Given the description of an element on the screen output the (x, y) to click on. 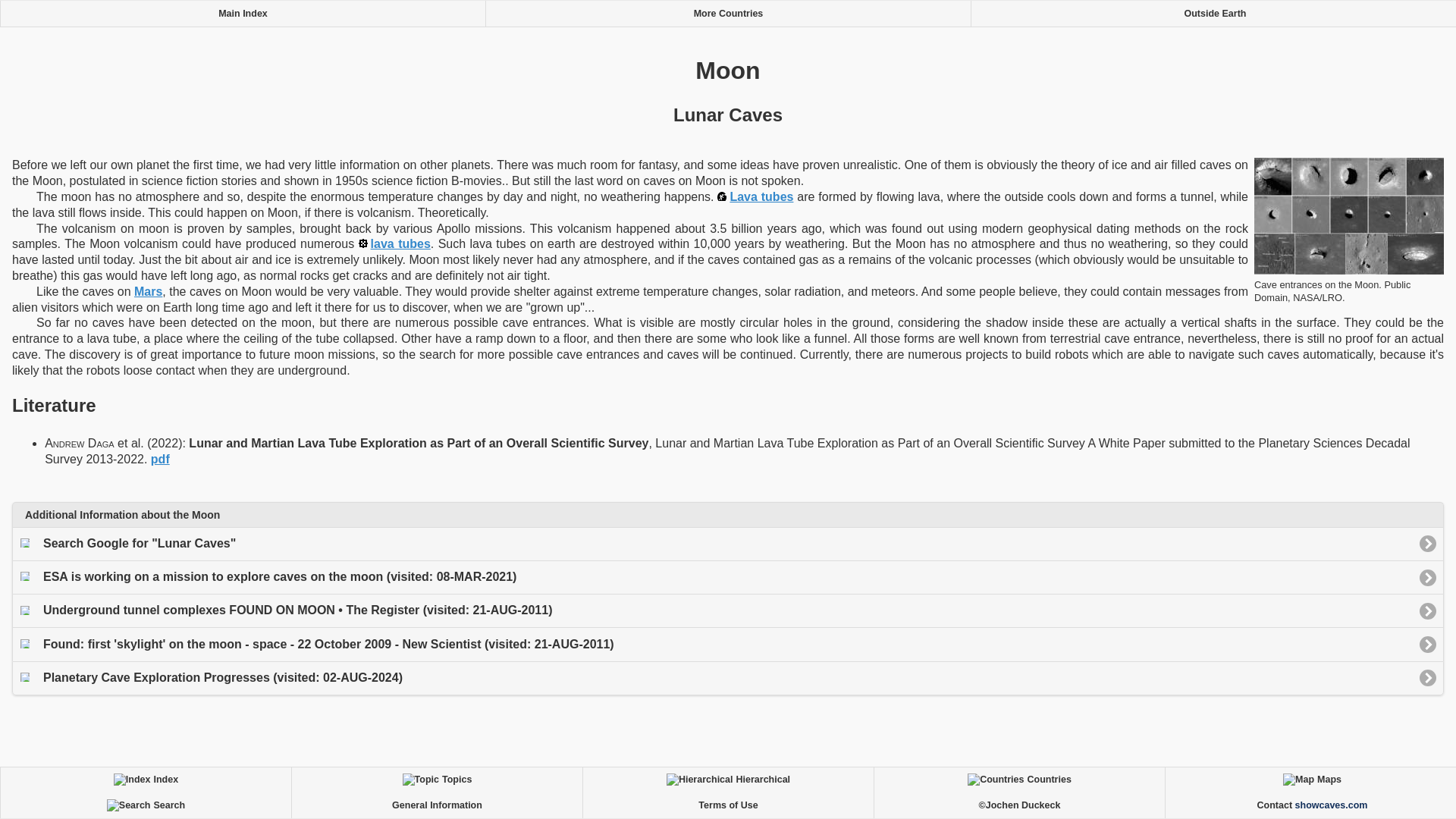
lava tubes (394, 243)
Hierarchical (727, 780)
Lava tubes (755, 196)
Mars (147, 291)
Countries (1018, 780)
Topics (436, 780)
Index (145, 780)
More Countries (727, 13)
pdf (160, 459)
Search Google for "Lunar Caves" (727, 543)
